Given the description of an element on the screen output the (x, y) to click on. 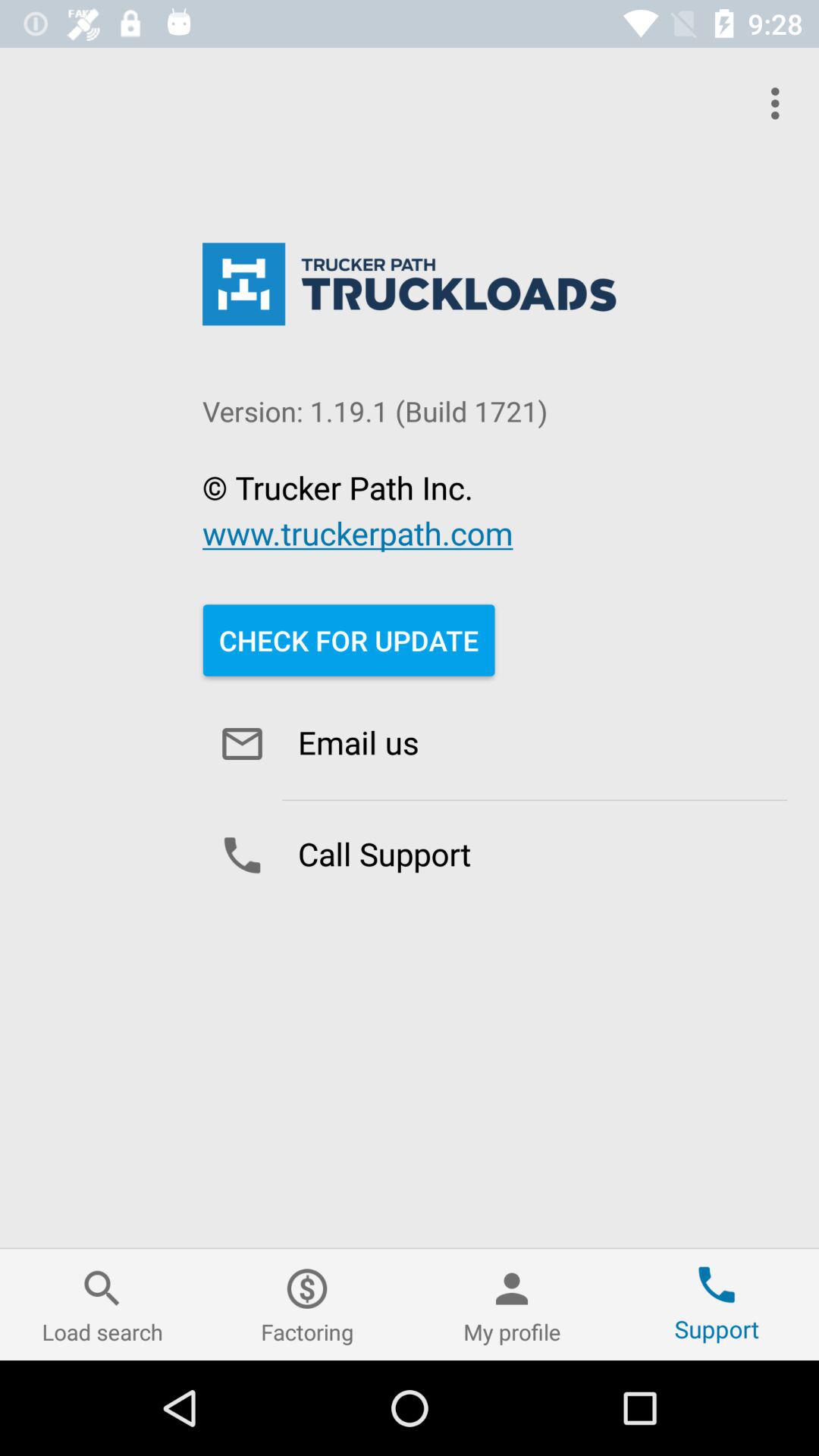
turn on item at the top right corner (779, 103)
